Given the description of an element on the screen output the (x, y) to click on. 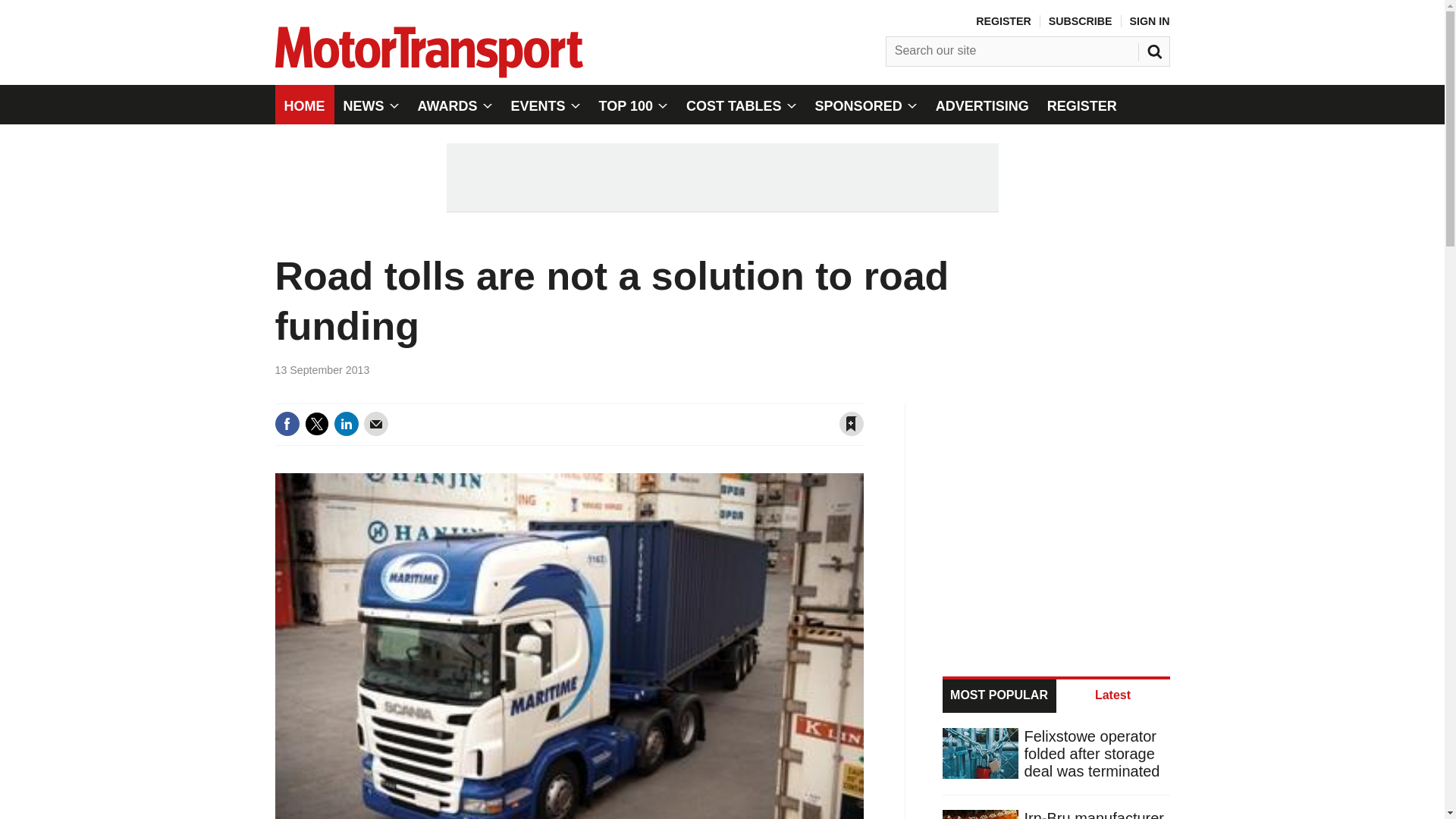
Email this article (376, 422)
SUBSCRIBE (1080, 21)
SEARCH (1156, 48)
REGISTER (1002, 21)
3rd party ad content (721, 177)
Share this on Linked in (345, 422)
3rd party ad content (1056, 520)
SIGN IN (1149, 21)
Site name (428, 73)
Share this on Twitter (316, 422)
Share this on Facebook (286, 422)
